Given the description of an element on the screen output the (x, y) to click on. 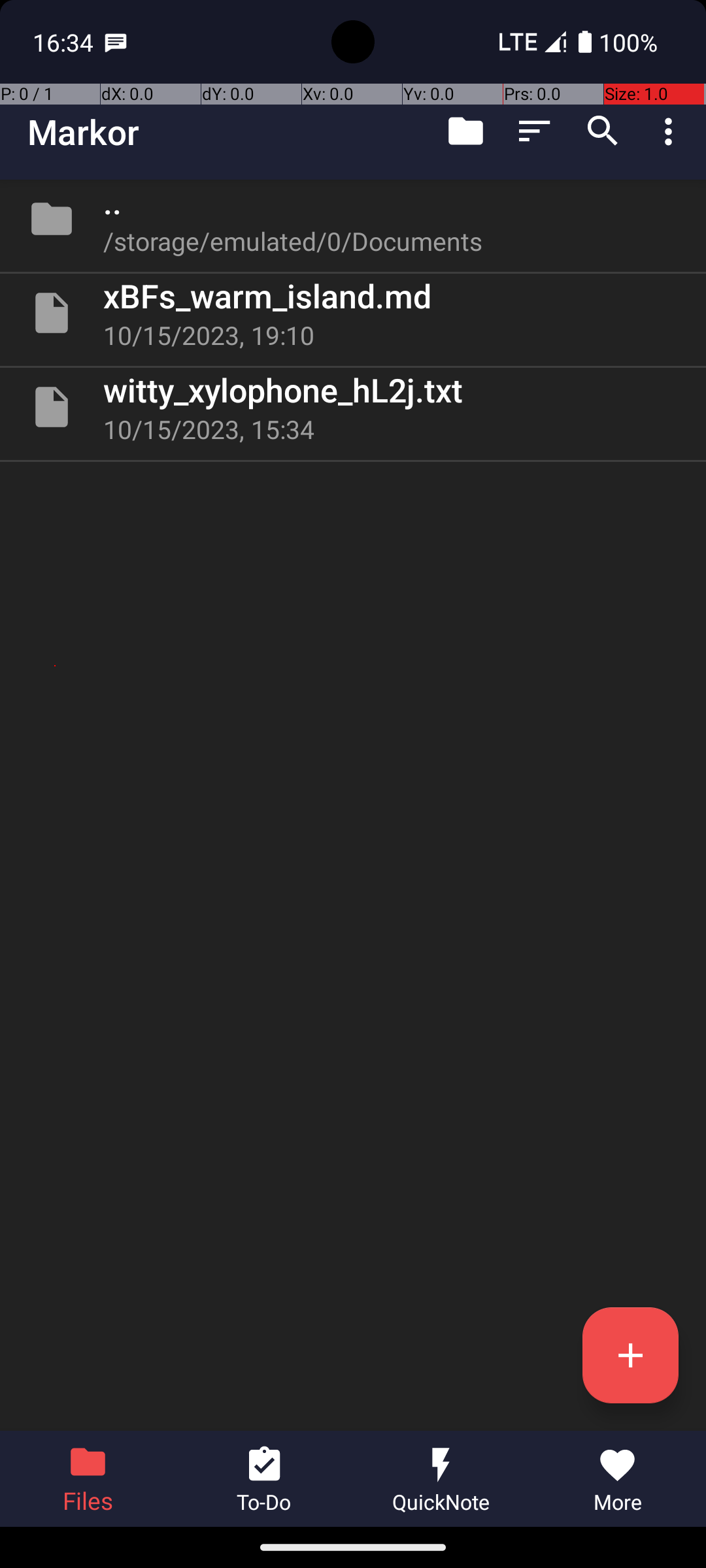
File xBFs_warm_island.md  Element type: android.widget.LinearLayout (353, 312)
File witty_xylophone_hL2j.txt  Element type: android.widget.LinearLayout (353, 406)
16:34 Element type: android.widget.TextView (64, 41)
